Given the description of an element on the screen output the (x, y) to click on. 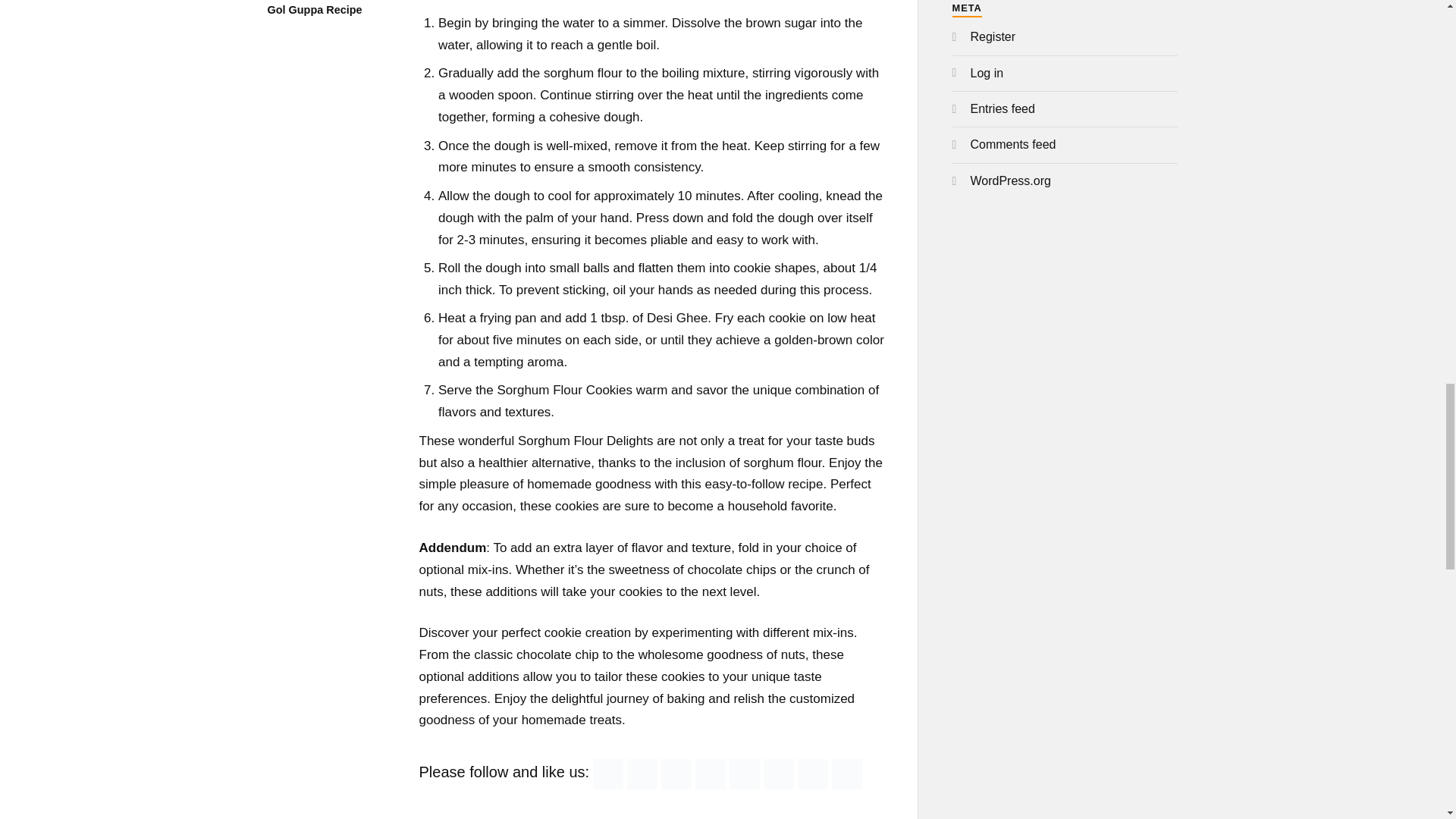
LinkedIn (777, 774)
Instagram (812, 774)
Facebook (676, 774)
Pinterest (744, 774)
Follow by Email (642, 774)
RSS (607, 774)
